Given the description of an element on the screen output the (x, y) to click on. 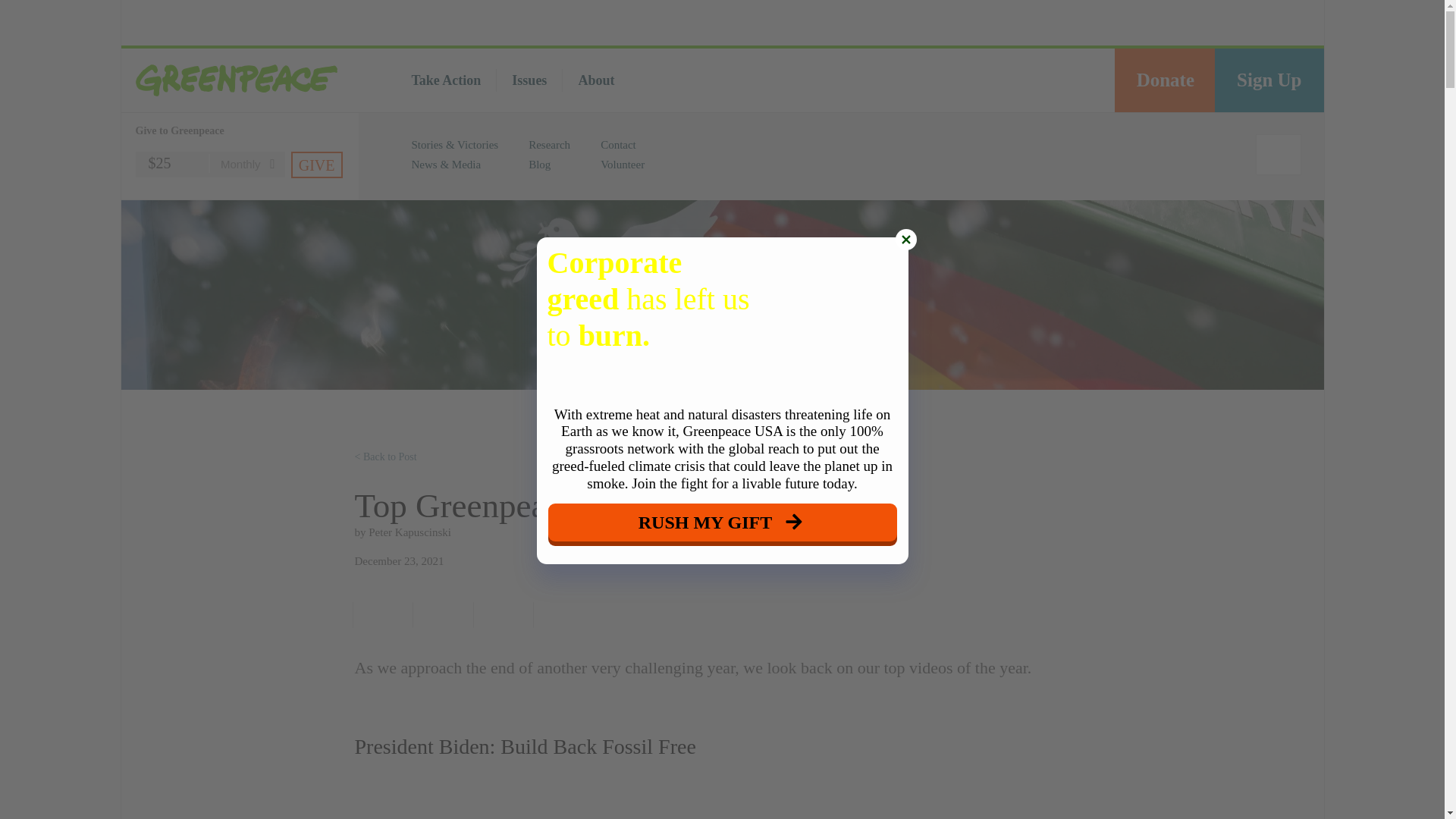
give (316, 164)
Research (549, 144)
Twitter (1016, 80)
give (316, 164)
Contact (617, 144)
Blog (539, 164)
Volunteer (622, 164)
facebook (379, 614)
Email (500, 614)
Greenpeace USA (239, 80)
Twitter (439, 614)
facebook (984, 80)
President Biden: Build Back Fossil Free (722, 800)
About (596, 79)
Issues (529, 79)
